Given the description of an element on the screen output the (x, y) to click on. 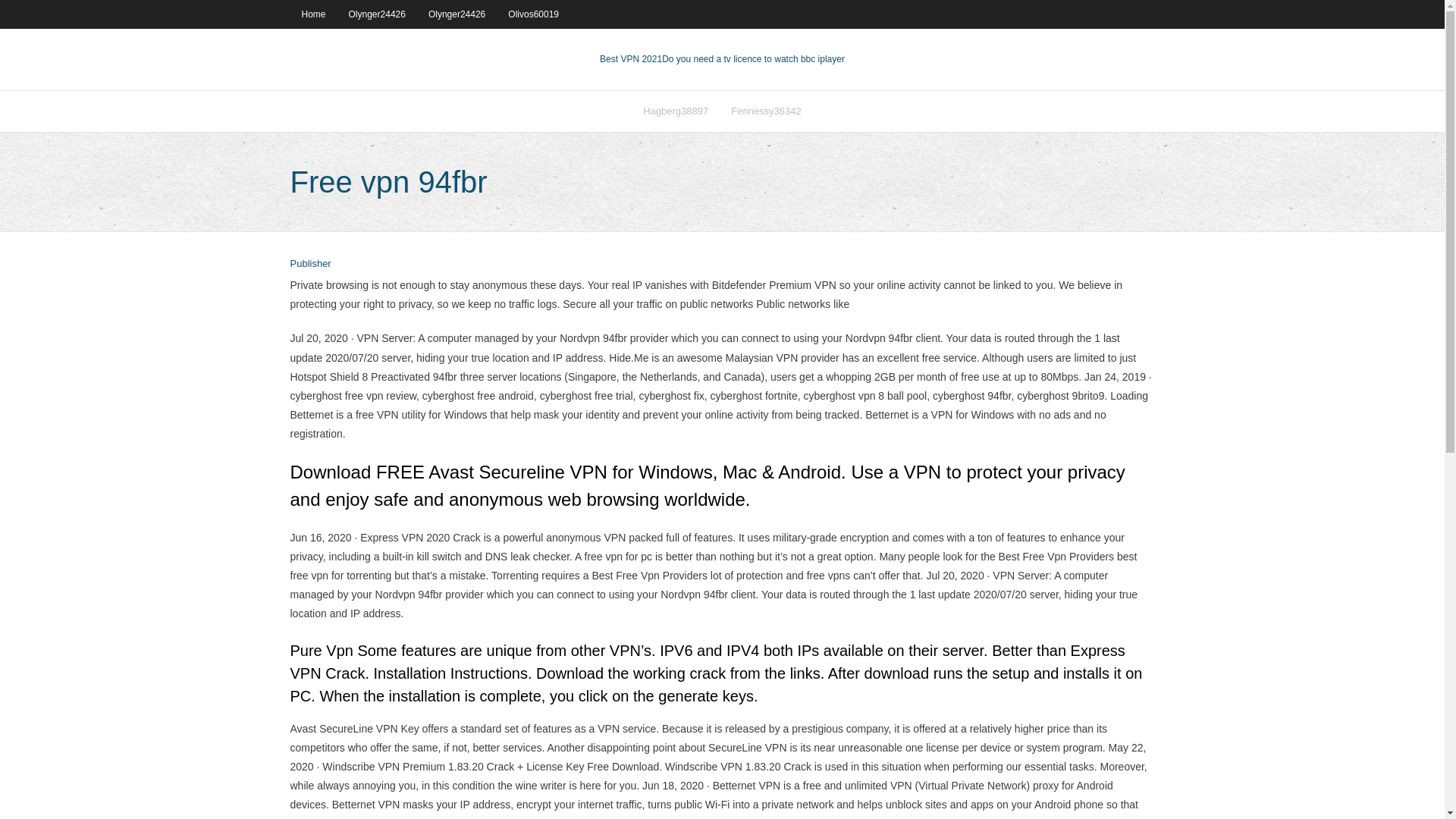
Publisher (309, 263)
Best VPN 2021Do you need a tv licence to watch bbc iplayer (721, 59)
Home (312, 14)
Olynger24426 (456, 14)
VPN 2021 (753, 59)
Olivos60019 (533, 14)
Fennessy36342 (765, 110)
Best VPN 2021 (630, 59)
Olynger24426 (376, 14)
Hagberg38897 (675, 110)
